Given the description of an element on the screen output the (x, y) to click on. 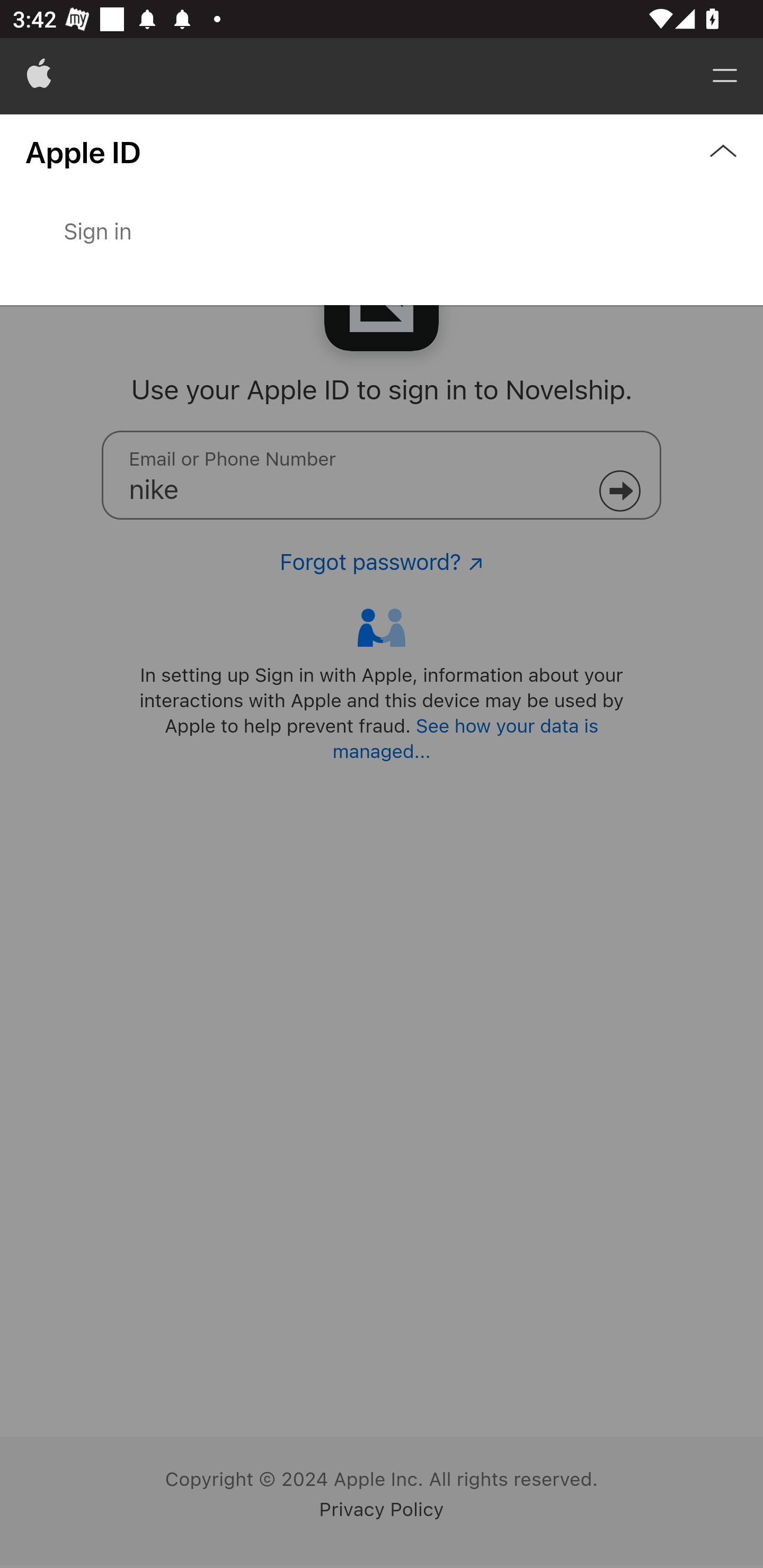
Close Menu (381, 209)
Sign in (381, 248)
